Given the description of an element on the screen output the (x, y) to click on. 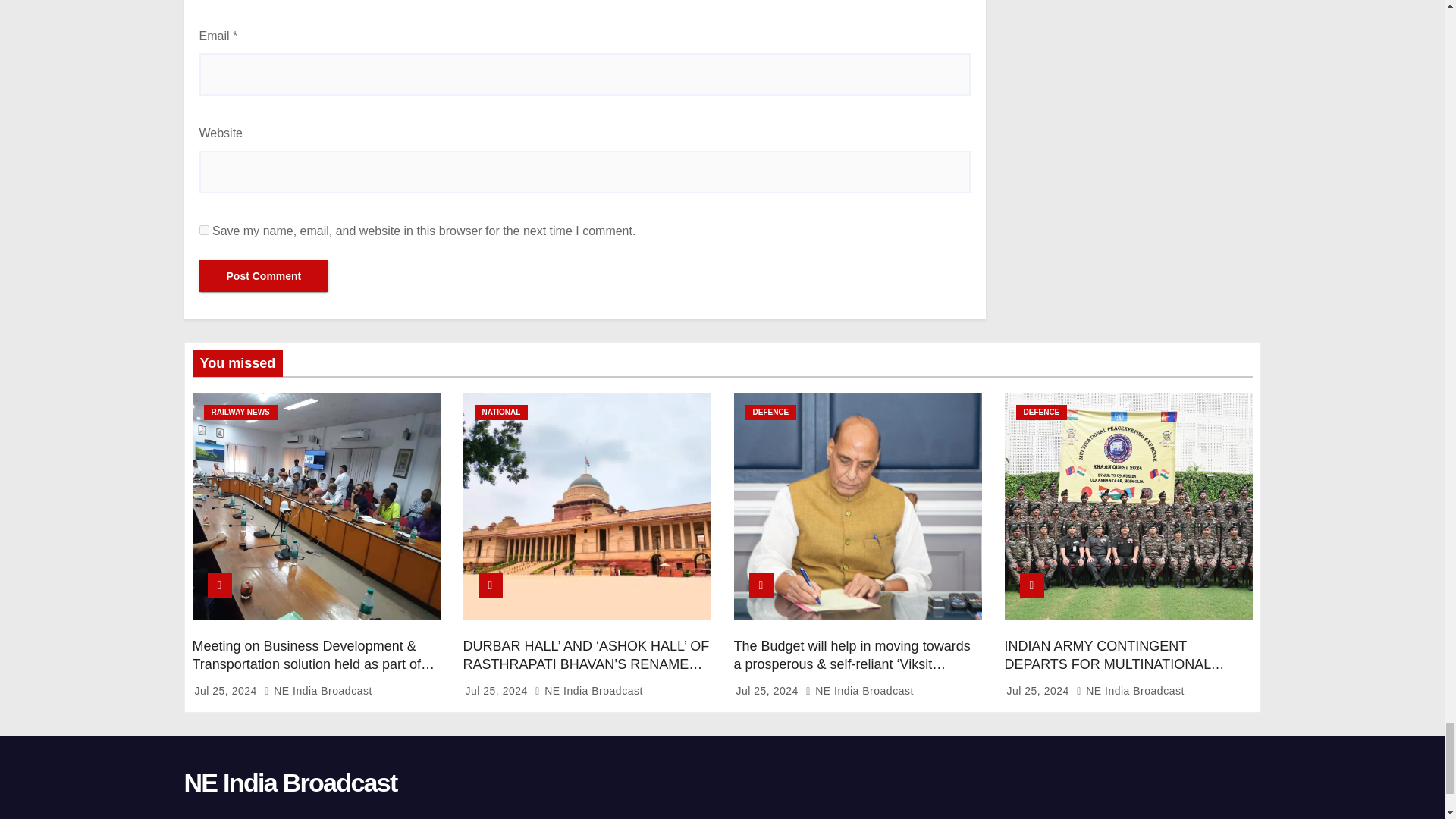
Post Comment (263, 275)
yes (203, 230)
